Given the description of an element on the screen output the (x, y) to click on. 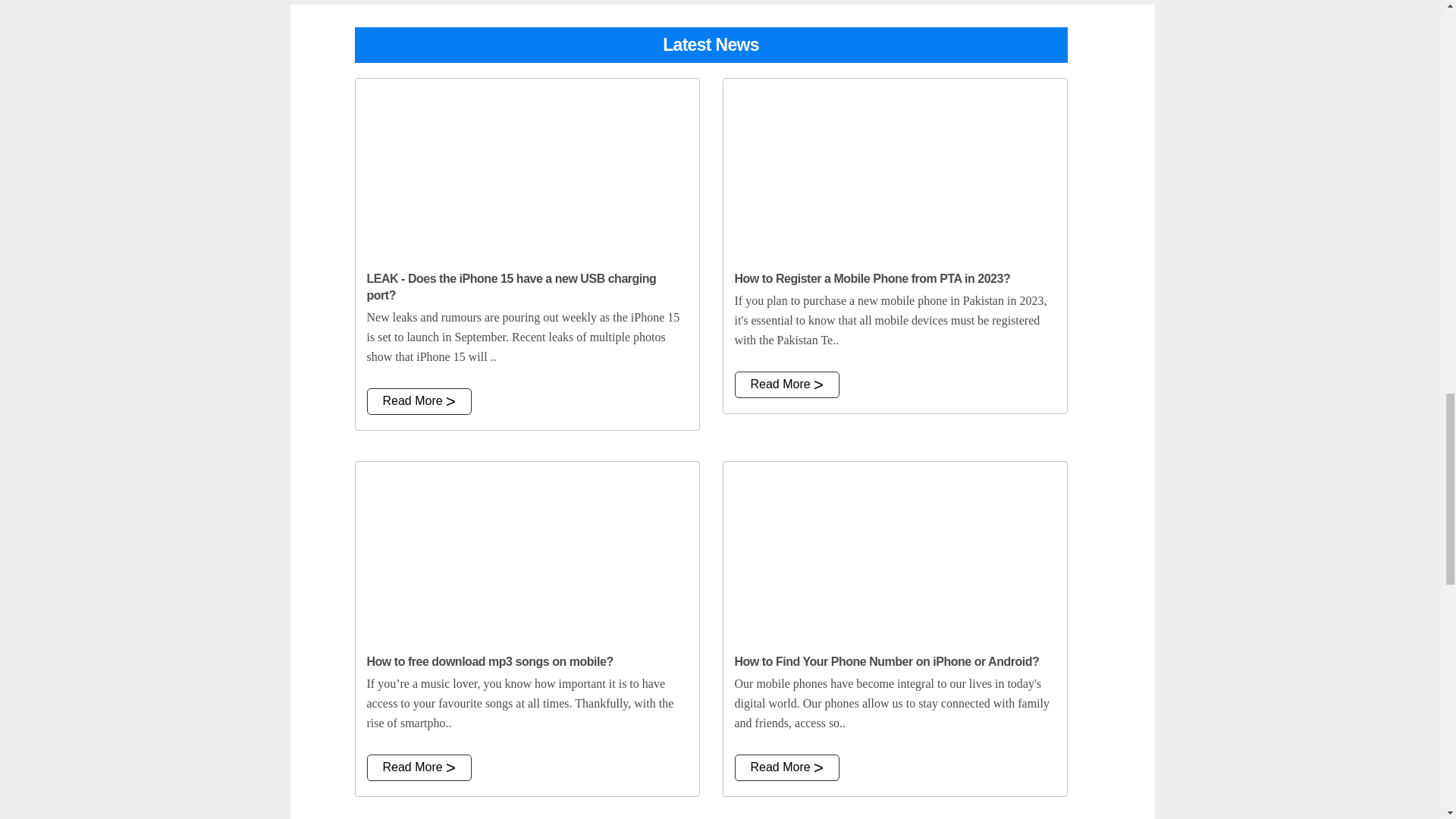
How to free download mp3 songs on mobile? (526, 552)
LEAK - Does the iPhone 15 have a new USB charging port? (526, 169)
How to Find Your Phone Number on iPhone or Android? (895, 552)
How to Register a Mobile Phone from PTA in 2023? (895, 169)
